Given the description of an element on the screen output the (x, y) to click on. 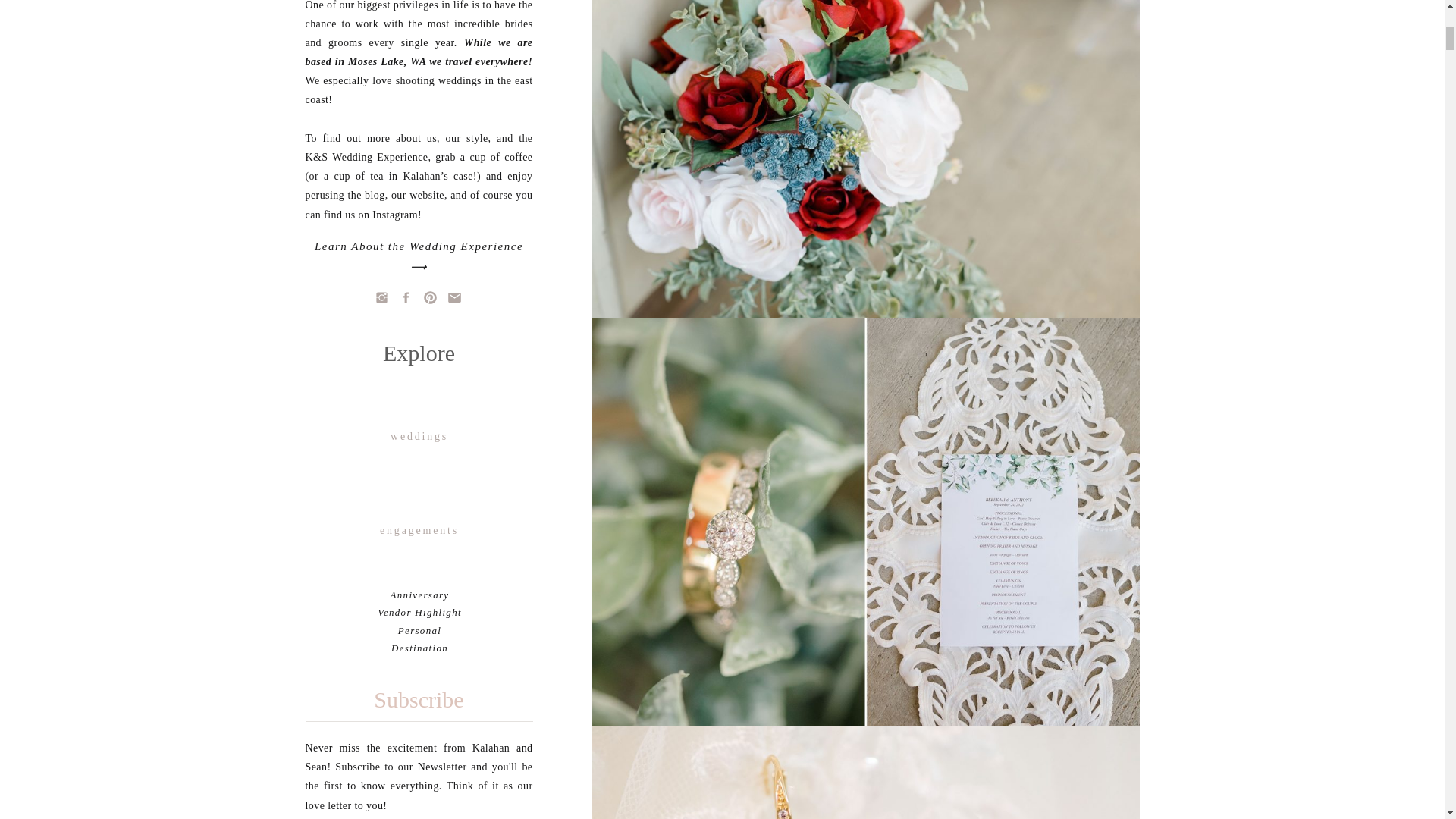
Personal (419, 630)
Destination (419, 647)
Vendor Highlight (419, 612)
Anniversary (419, 594)
weddings (419, 436)
engagements (419, 530)
